Given the description of an element on the screen output the (x, y) to click on. 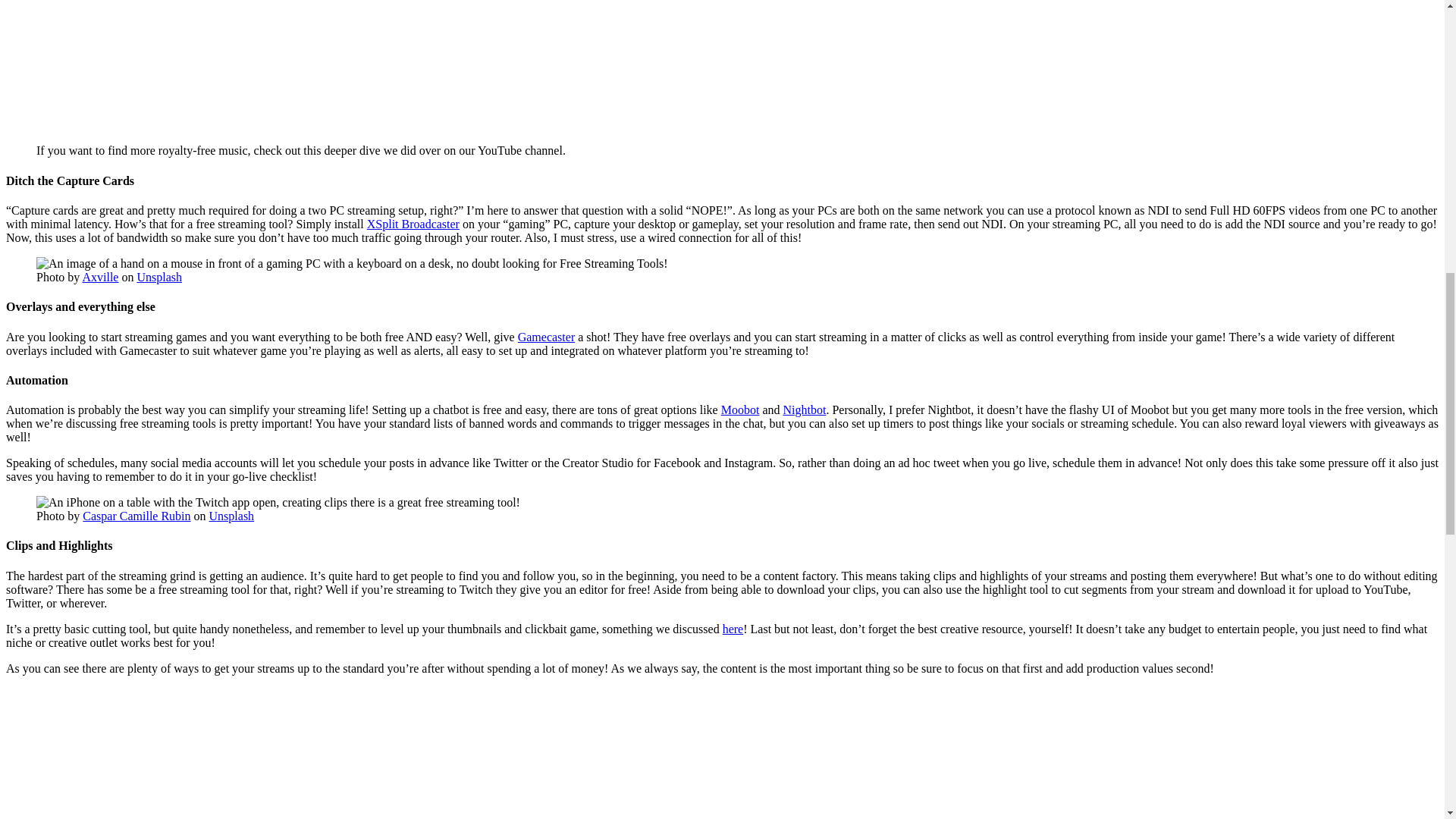
Nightbot (804, 409)
Axville (99, 277)
Gamecaster (546, 336)
XSplit Broadcaster (413, 223)
Unsplash (231, 515)
Moobot (740, 409)
Unsplash (159, 277)
Caspar Camille Rubin (136, 515)
here (733, 628)
